Given the description of an element on the screen output the (x, y) to click on. 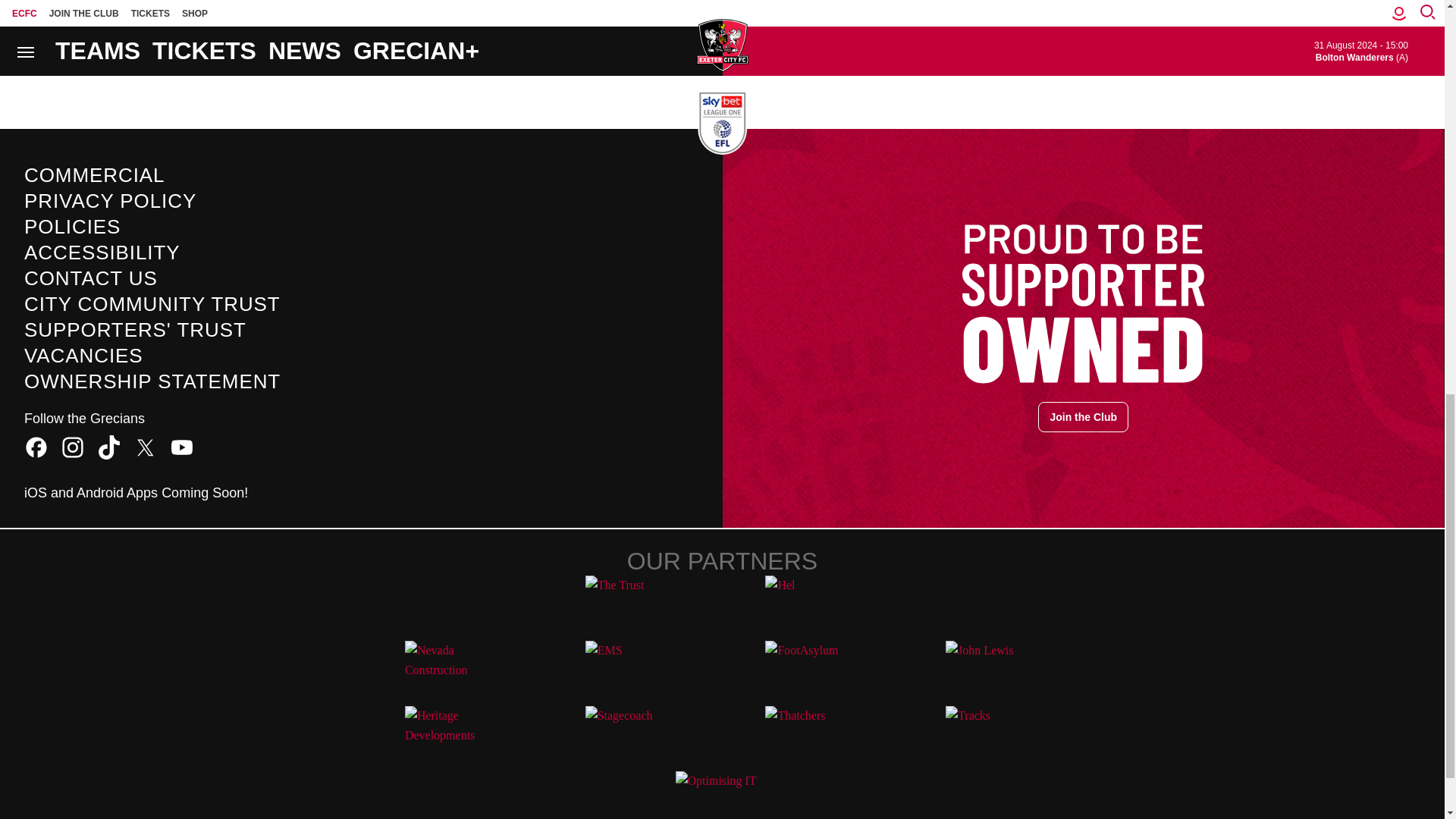
Footasylum (812, 666)
Facebook (36, 446)
The Trust (632, 601)
Optimising IT (721, 795)
EMS (632, 666)
Tracks Suzuki (991, 732)
Heritage Developments (451, 732)
X Formally know as Twitter (145, 446)
HEL (812, 601)
Thatchers (812, 732)
